Given the description of an element on the screen output the (x, y) to click on. 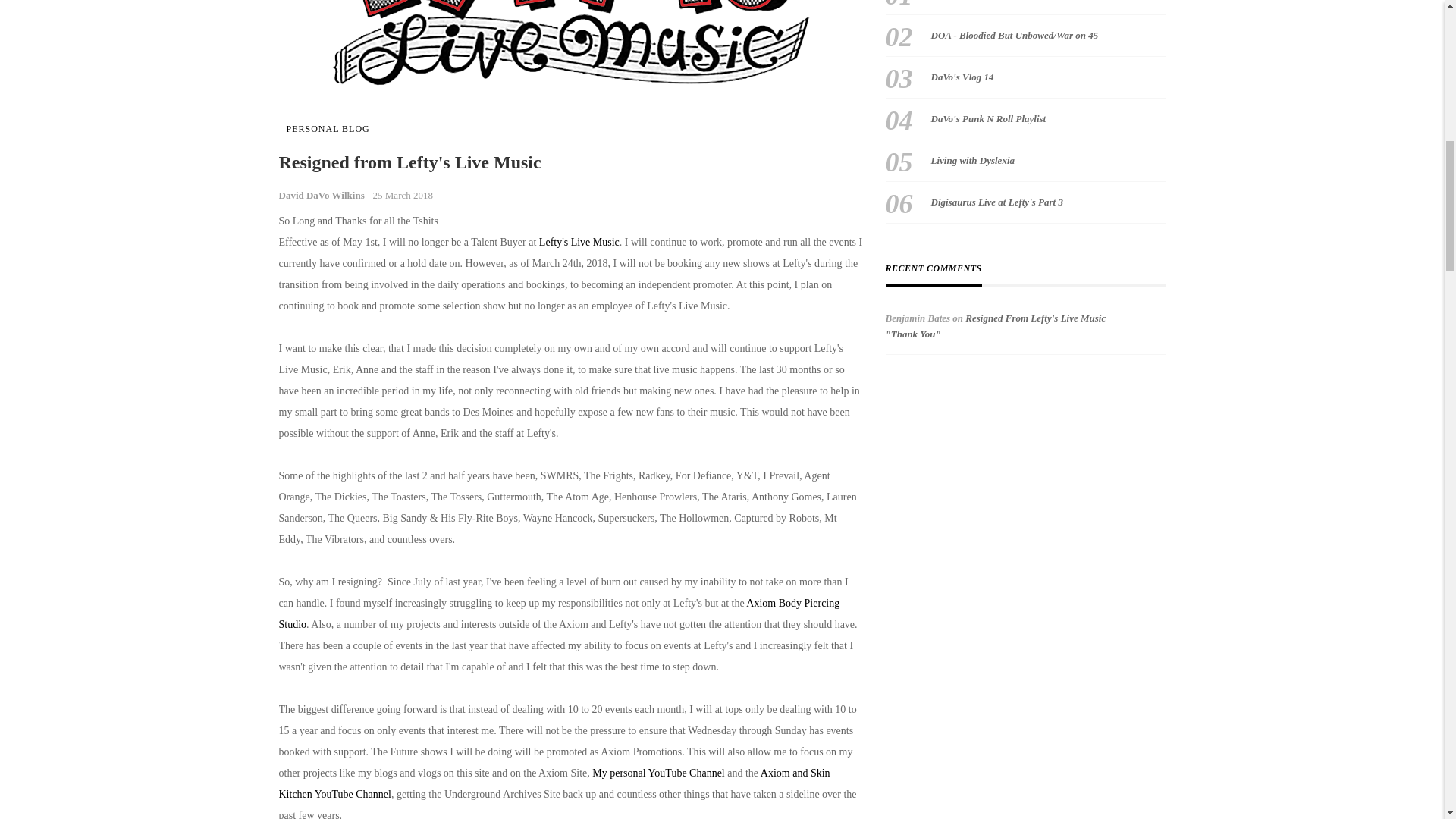
View user profile. (322, 194)
